Given the description of an element on the screen output the (x, y) to click on. 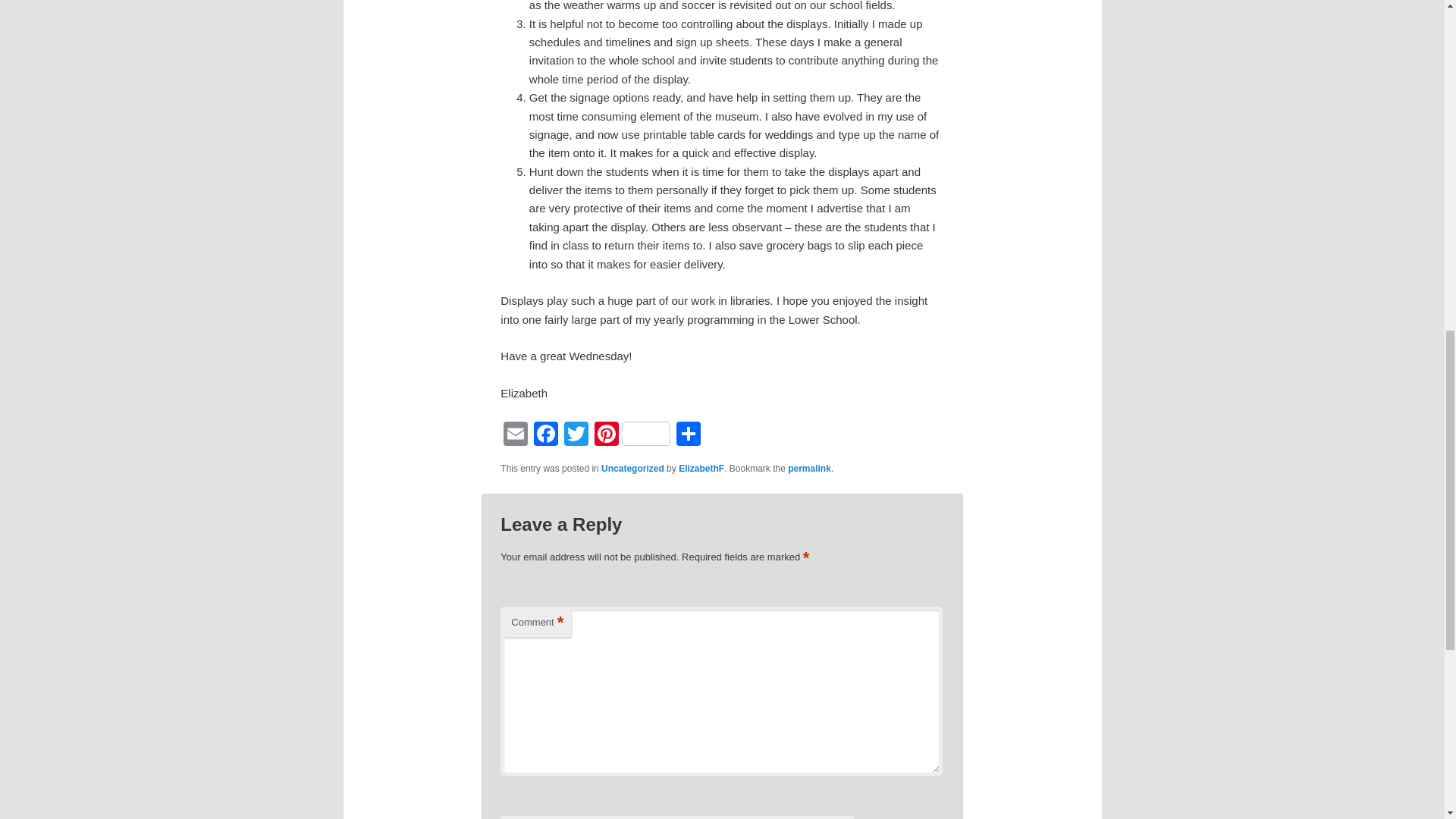
Twitter (575, 435)
permalink (809, 468)
Permalink to Our Lower School Museum (809, 468)
Pinterest (631, 435)
Facebook (545, 435)
ElizabethF (700, 468)
Twitter (575, 435)
Email (515, 435)
Uncategorized (632, 468)
Share (687, 435)
Pinterest (631, 435)
Email (515, 435)
Facebook (545, 435)
